Given the description of an element on the screen output the (x, y) to click on. 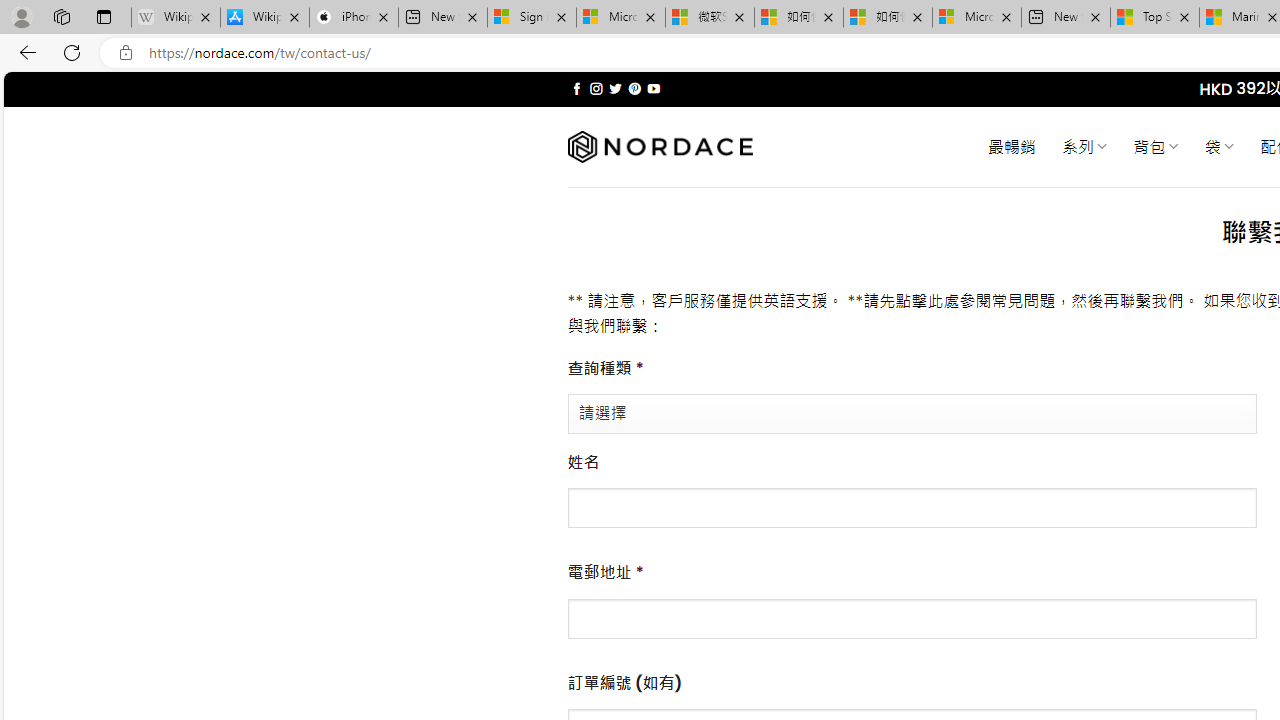
Follow on YouTube (653, 88)
